Given the description of an element on the screen output the (x, y) to click on. 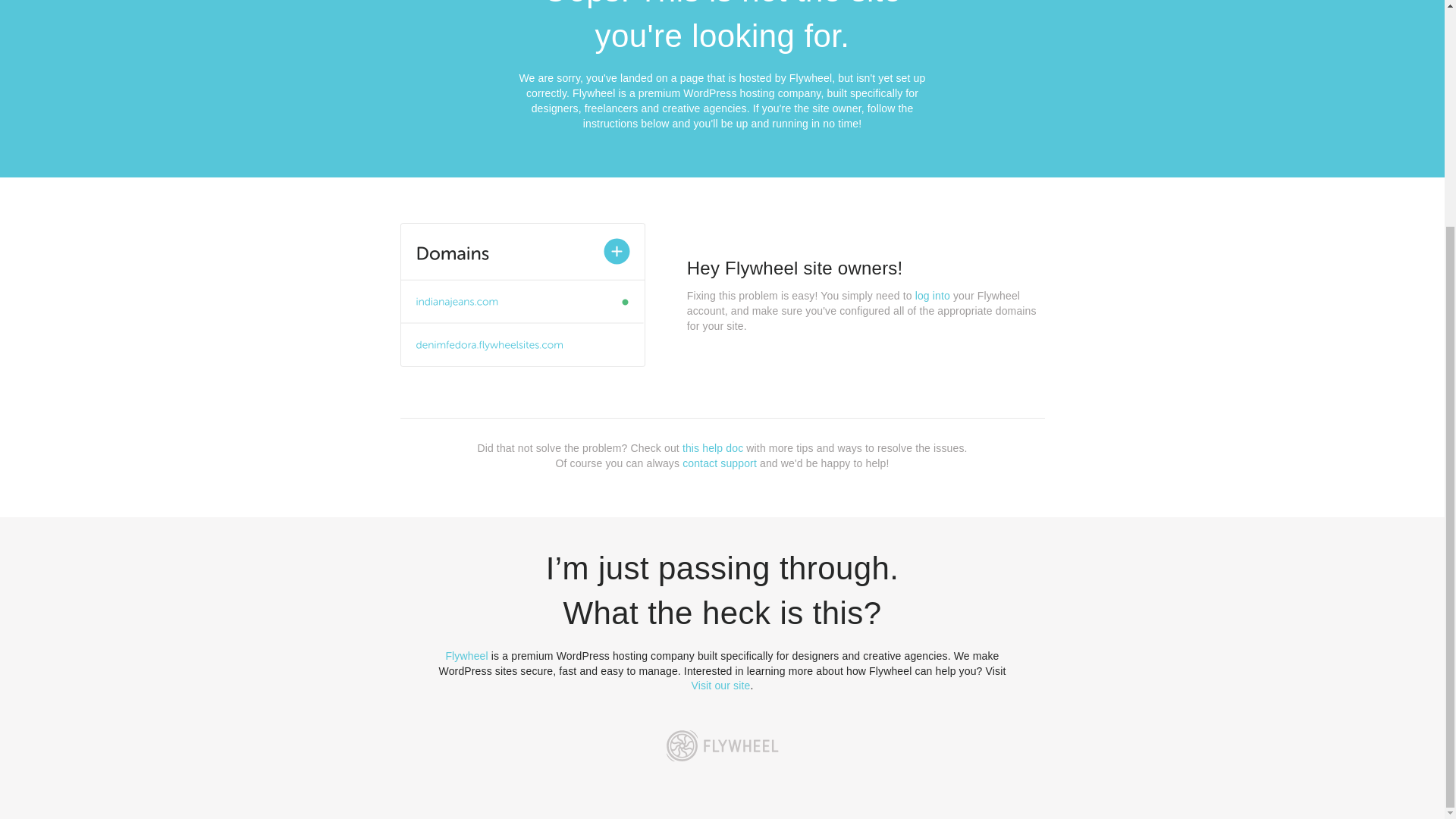
this help doc (712, 448)
Visit our site (721, 685)
contact support (719, 463)
Flywheel (466, 655)
log into (932, 295)
